Given the description of an element on the screen output the (x, y) to click on. 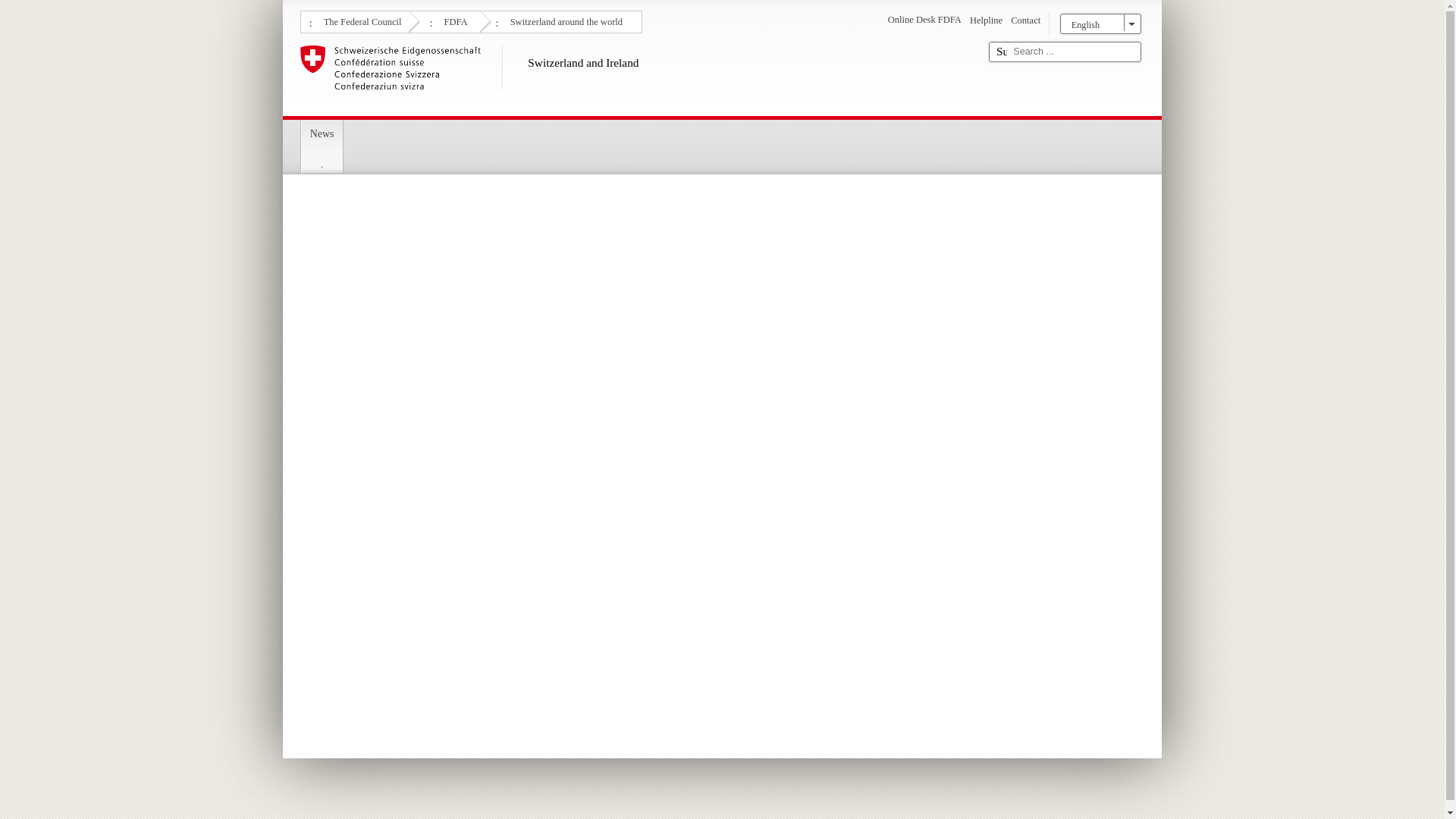
The Federal Council (360, 20)
Switzerland around the world (564, 20)
Submit (1001, 51)
FDFA (454, 20)
Switzerland and Ireland (637, 76)
